Given the description of an element on the screen output the (x, y) to click on. 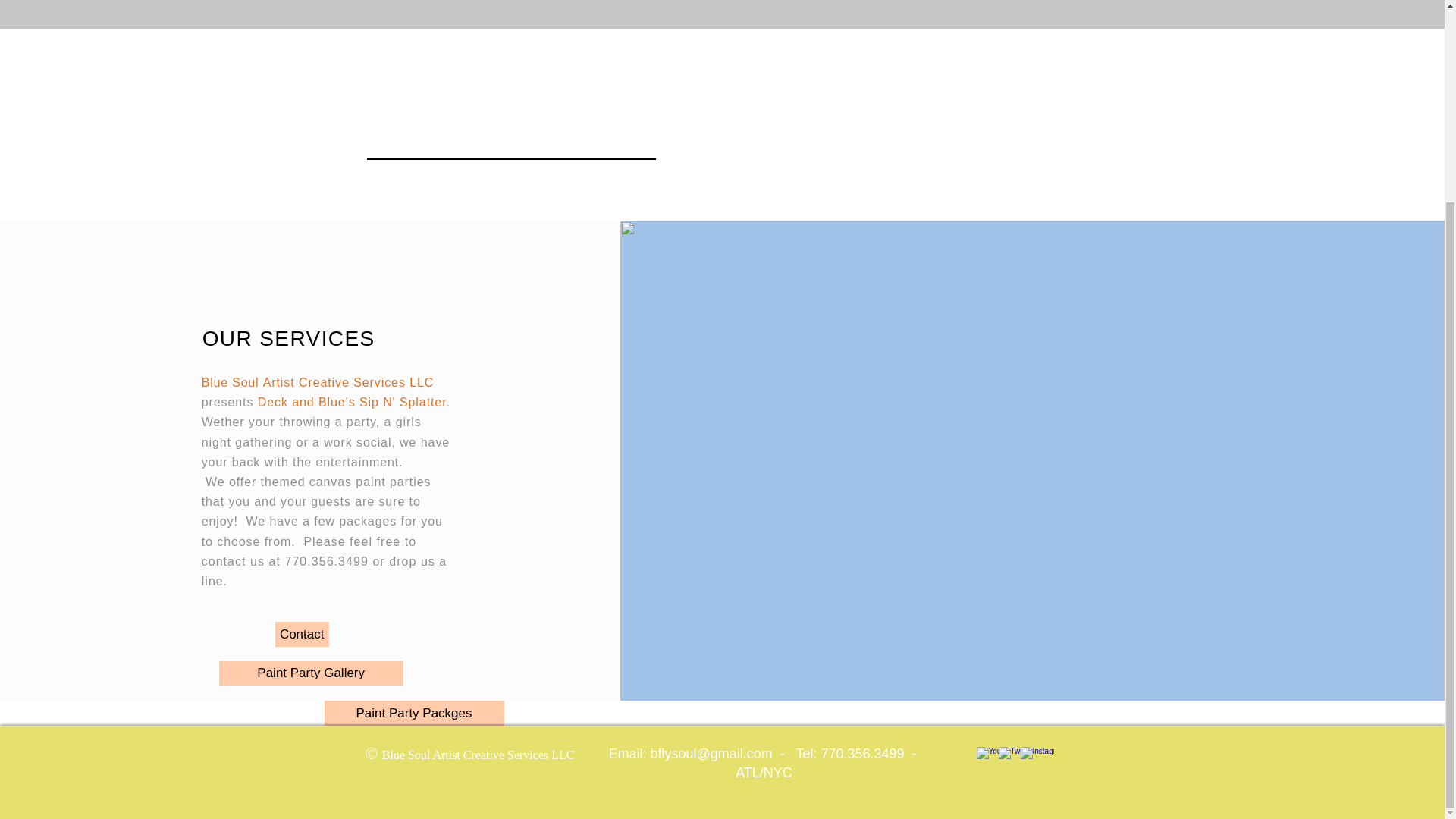
Paint Party Gallery (311, 672)
Contact (302, 634)
Paint Party Packges (413, 713)
